Given the description of an element on the screen output the (x, y) to click on. 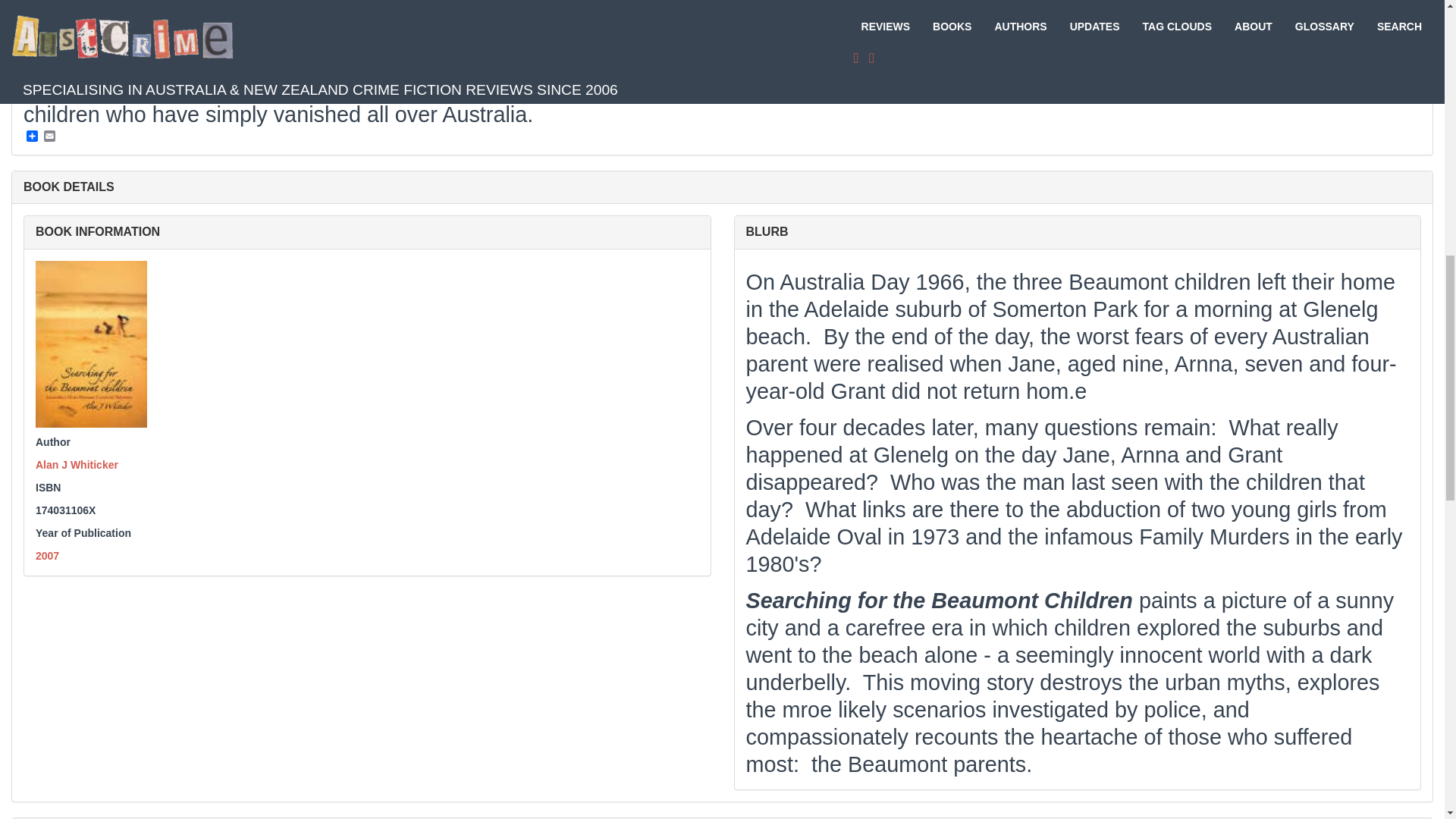
Alan J Whiticker (75, 464)
2007 (46, 555)
Email (49, 135)
